Given the description of an element on the screen output the (x, y) to click on. 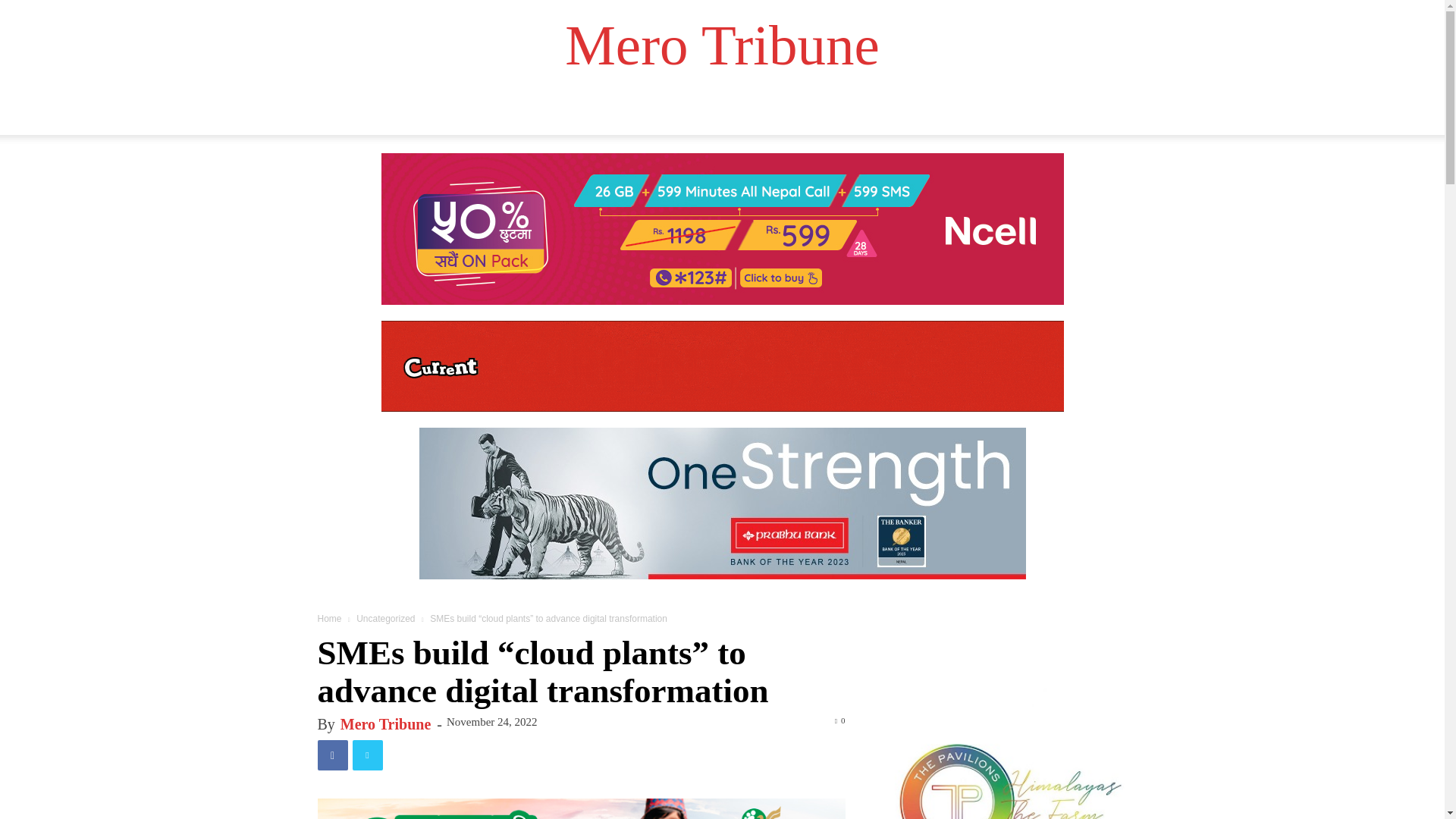
Politics (408, 116)
Science (833, 116)
Tech (775, 116)
Business (714, 116)
Health (472, 116)
Home (346, 116)
Climate (642, 116)
Development (555, 116)
View all posts in Uncategorized (385, 618)
Environment (918, 116)
Mero Tribune (721, 50)
